Given the description of an element on the screen output the (x, y) to click on. 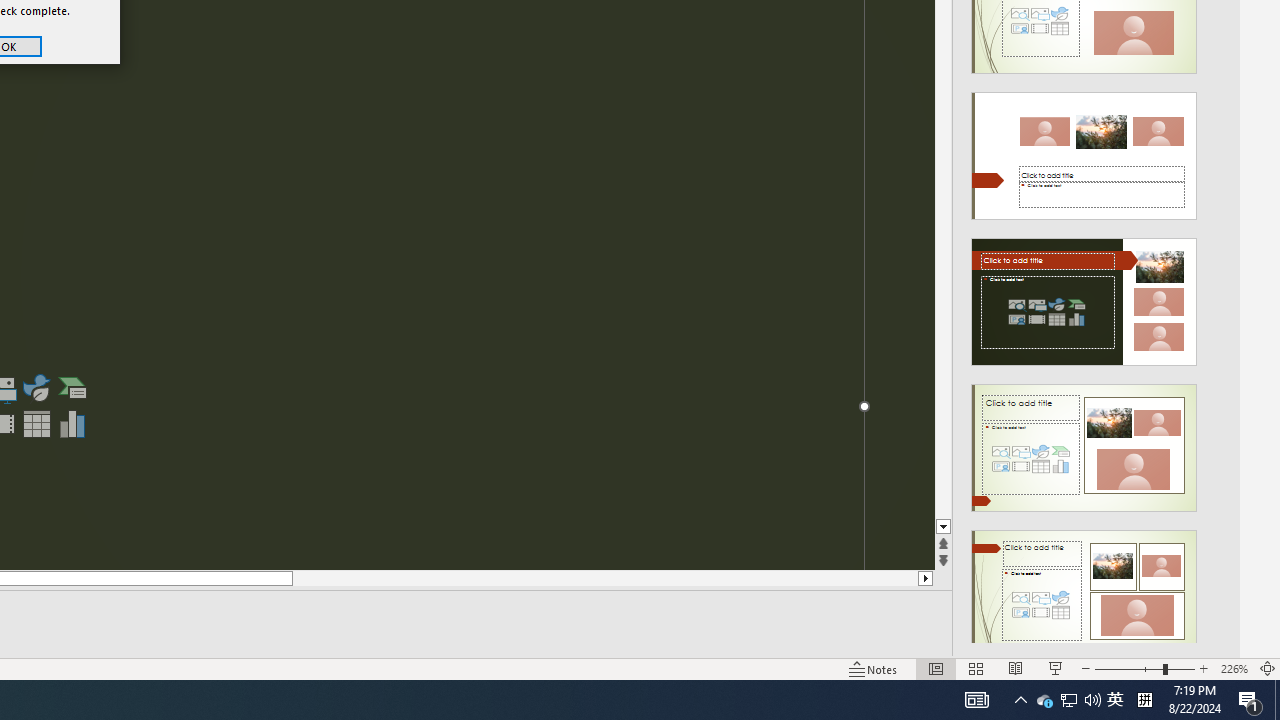
Zoom 226% (1234, 668)
